Given the description of an element on the screen output the (x, y) to click on. 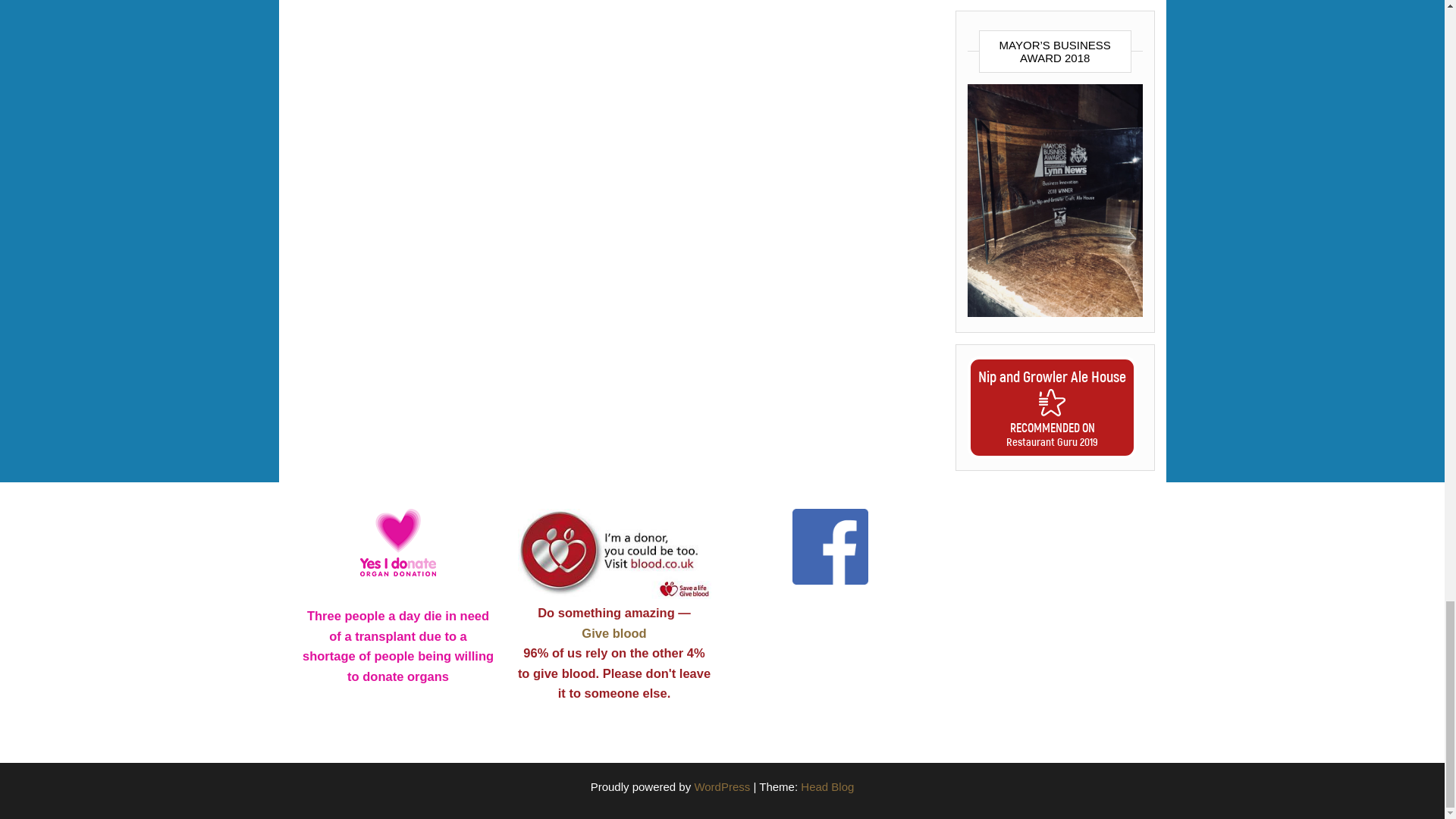
Head Blog (826, 786)
Nip and Growler Ale House (1051, 375)
WordPress (721, 786)
Give blood (613, 632)
Restaurant Guru 2019 (1051, 440)
